Given the description of an element on the screen output the (x, y) to click on. 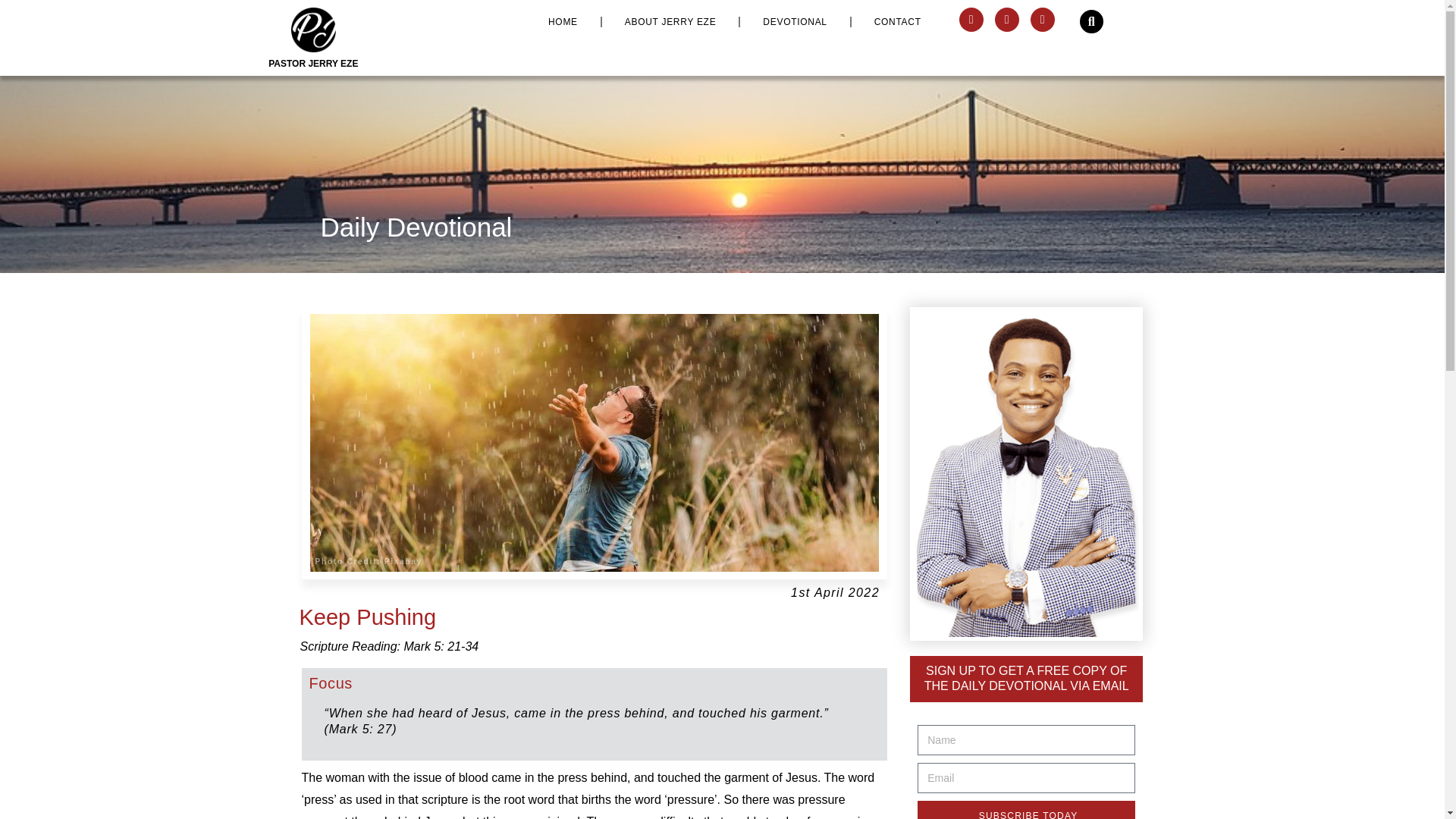
ABOUT JERRY EZE (670, 21)
CONTACT (897, 21)
HOME (562, 21)
PASTOR JERRY EZE (312, 63)
DEVOTIONAL (793, 21)
